Given the description of an element on the screen output the (x, y) to click on. 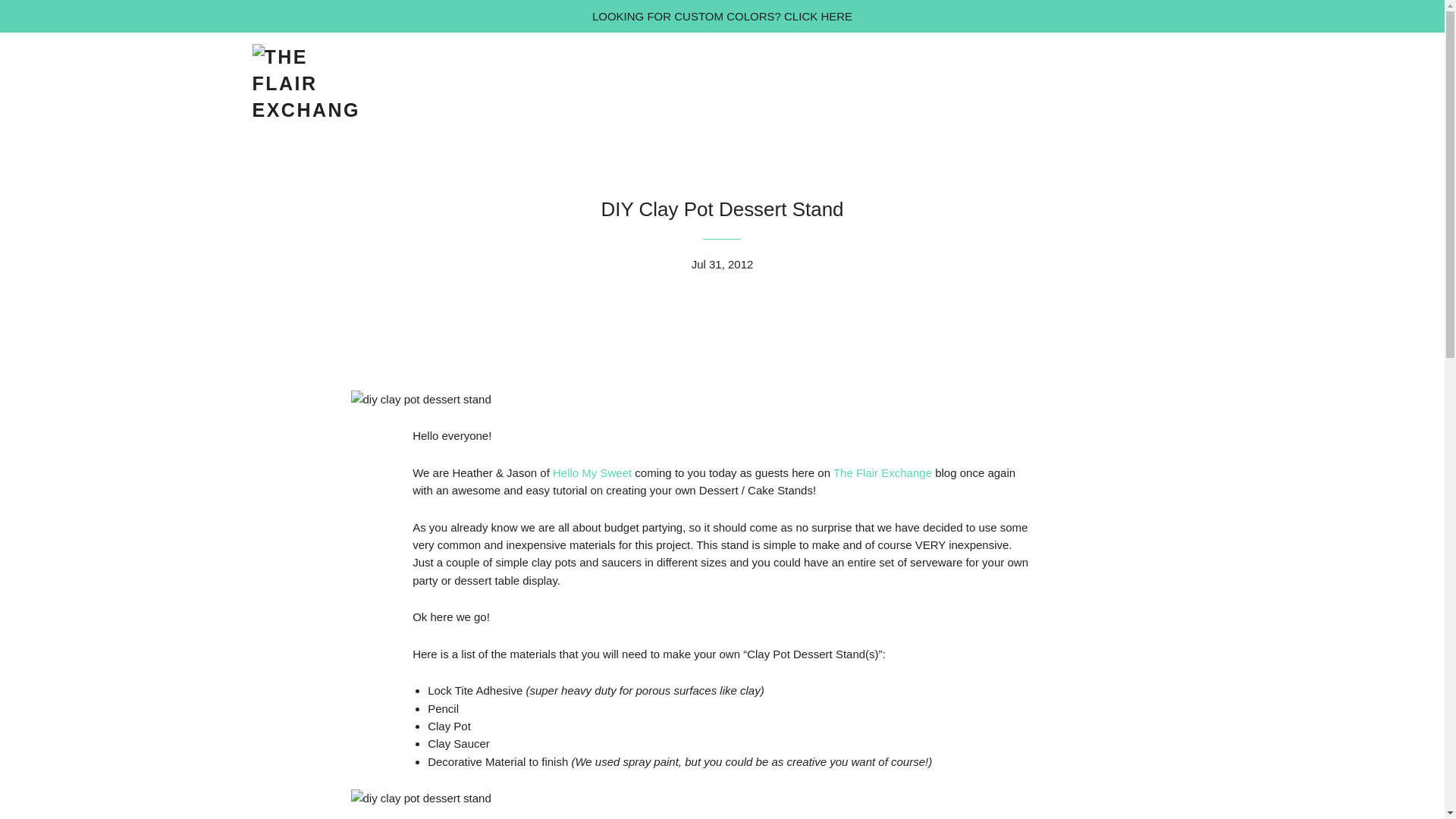
diy clay pot dessert stand (420, 398)
The Flair Exchange (881, 472)
Hello My Sweet (592, 472)
diy clay pot dessert stand (420, 797)
